Given the description of an element on the screen output the (x, y) to click on. 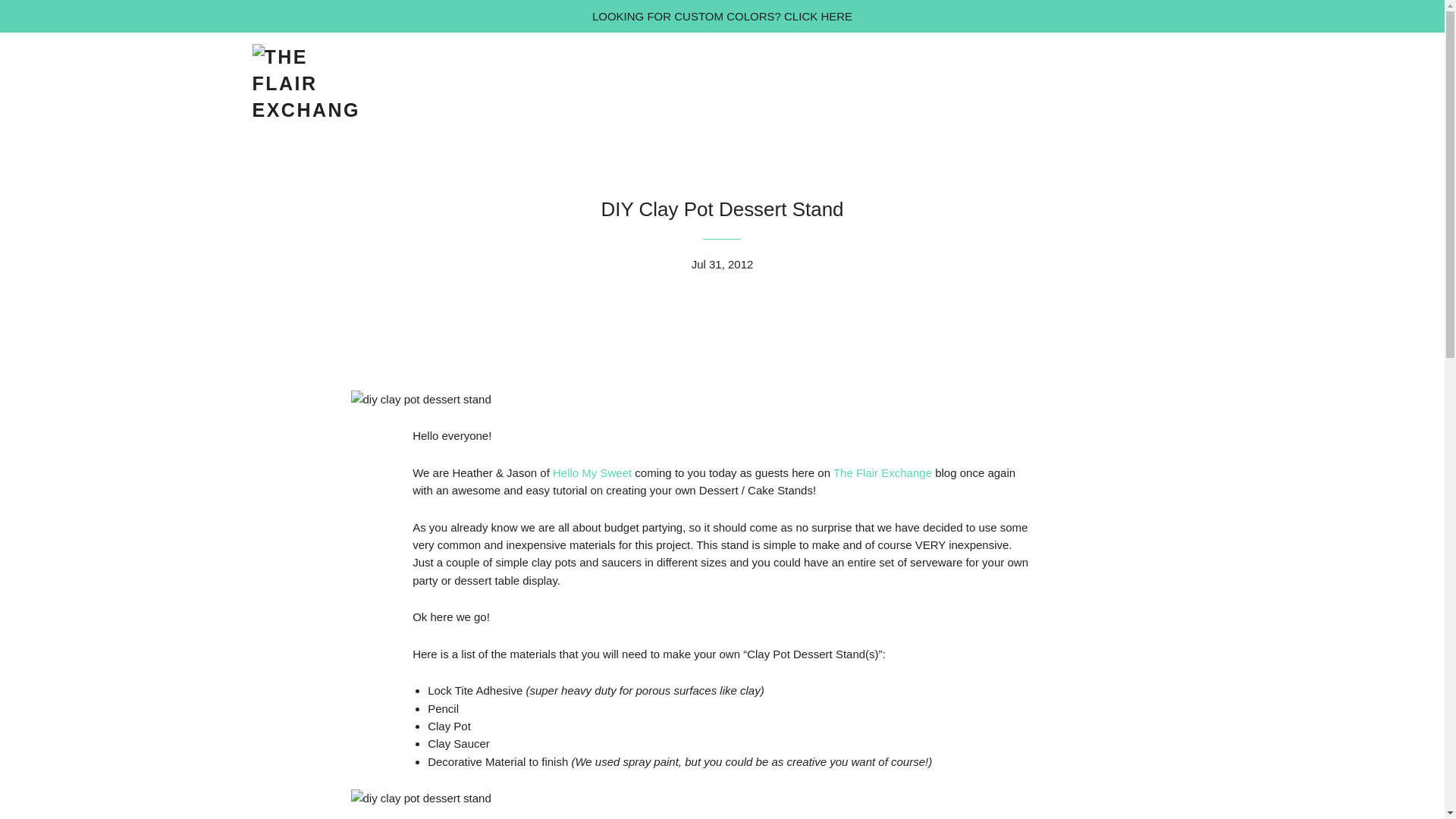
diy clay pot dessert stand (420, 398)
The Flair Exchange (881, 472)
Hello My Sweet (592, 472)
diy clay pot dessert stand (420, 797)
